Given the description of an element on the screen output the (x, y) to click on. 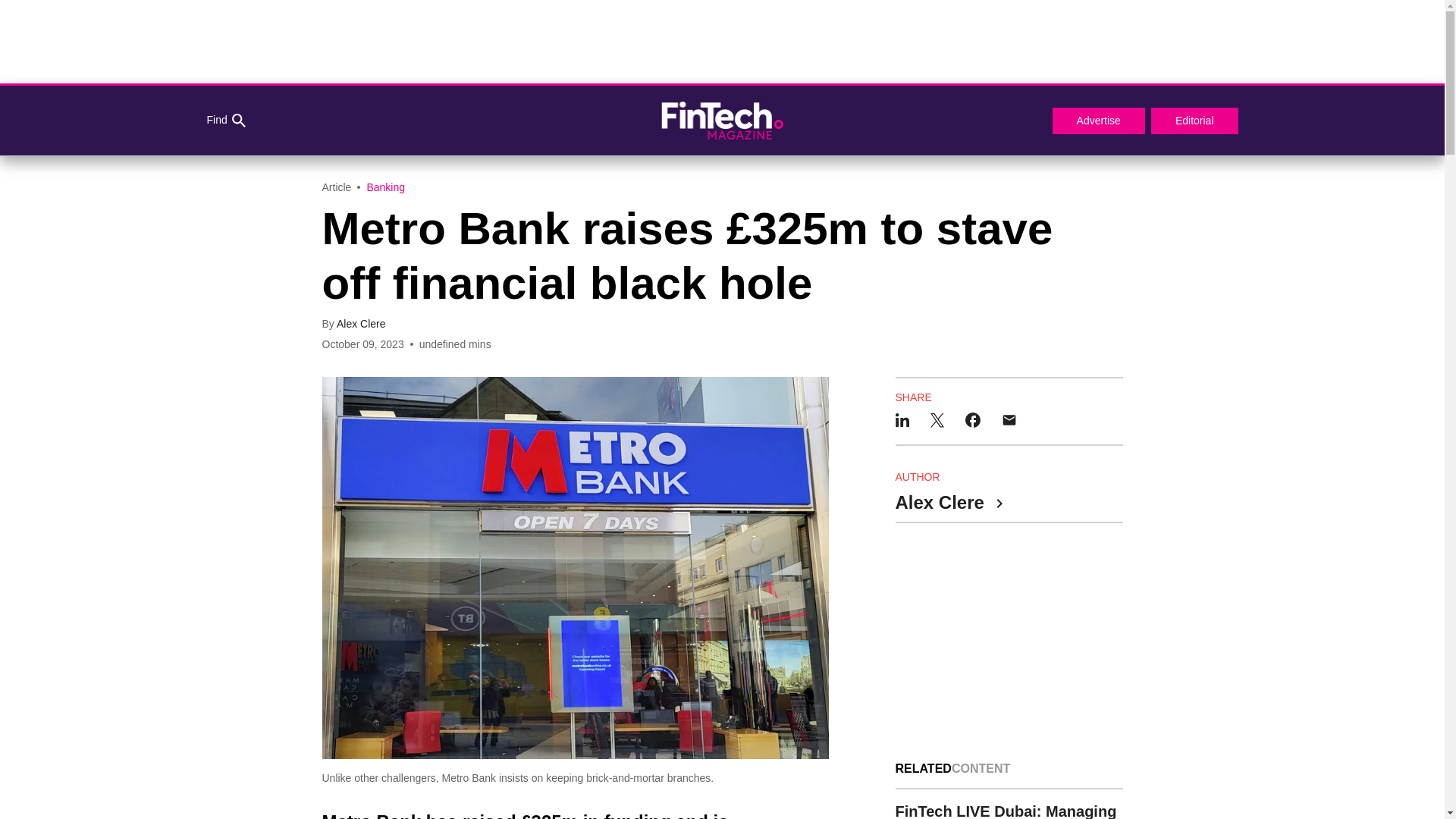
Alex Clere (948, 503)
Alex Clere (360, 323)
Advertise (1098, 121)
Editorial (1195, 121)
Find (225, 120)
